Given the description of an element on the screen output the (x, y) to click on. 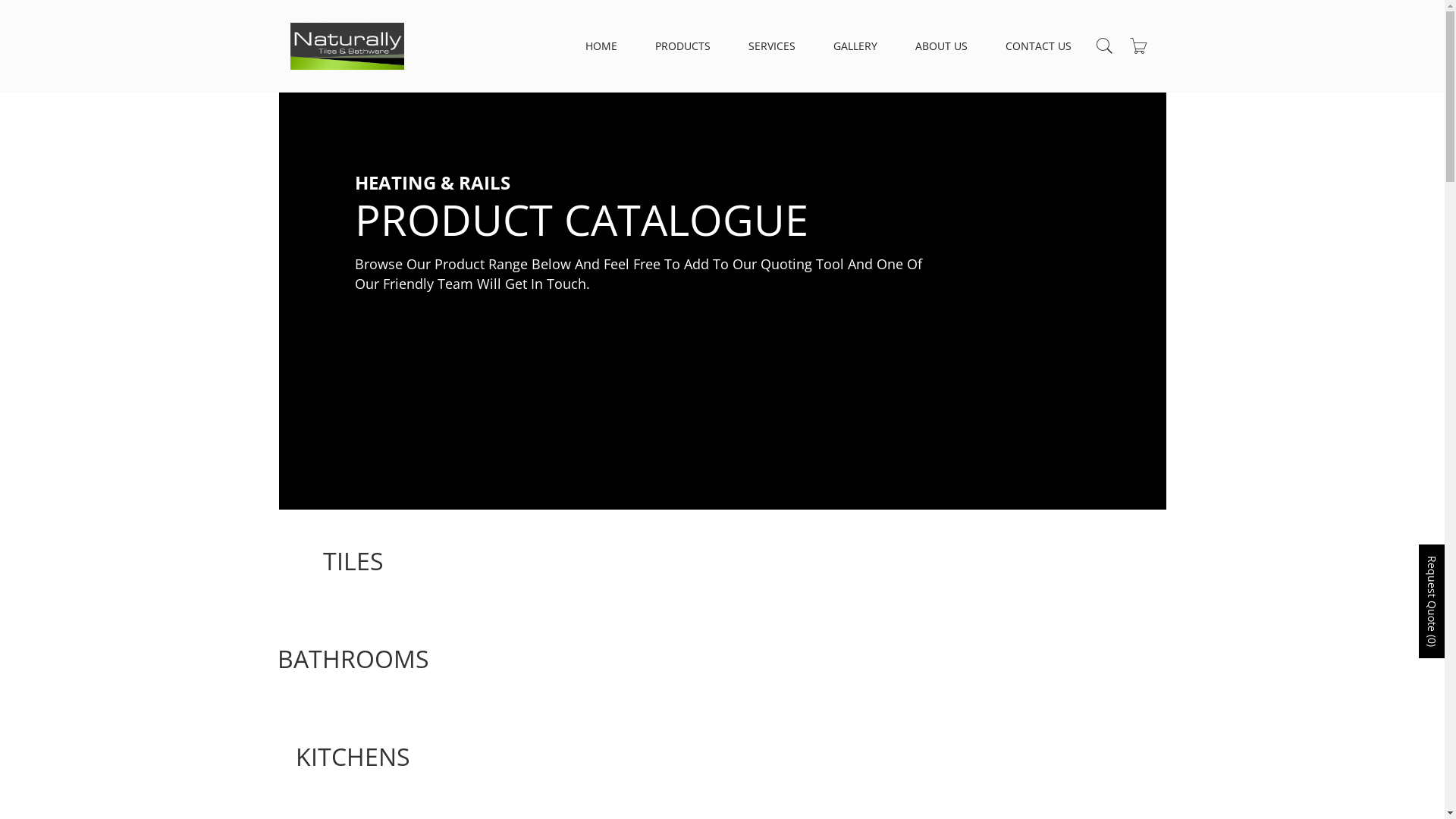
ABOUT US Element type: text (940, 46)
SERVICES Element type: text (770, 46)
BATHROOMS Element type: text (353, 658)
TILES Element type: text (353, 560)
CONTACT US Element type: text (1038, 46)
KITCHENS Element type: text (352, 756)
GALLERY Element type: text (854, 46)
PRODUCTS Element type: text (682, 46)
HOME Element type: text (601, 46)
